Given the description of an element on the screen output the (x, y) to click on. 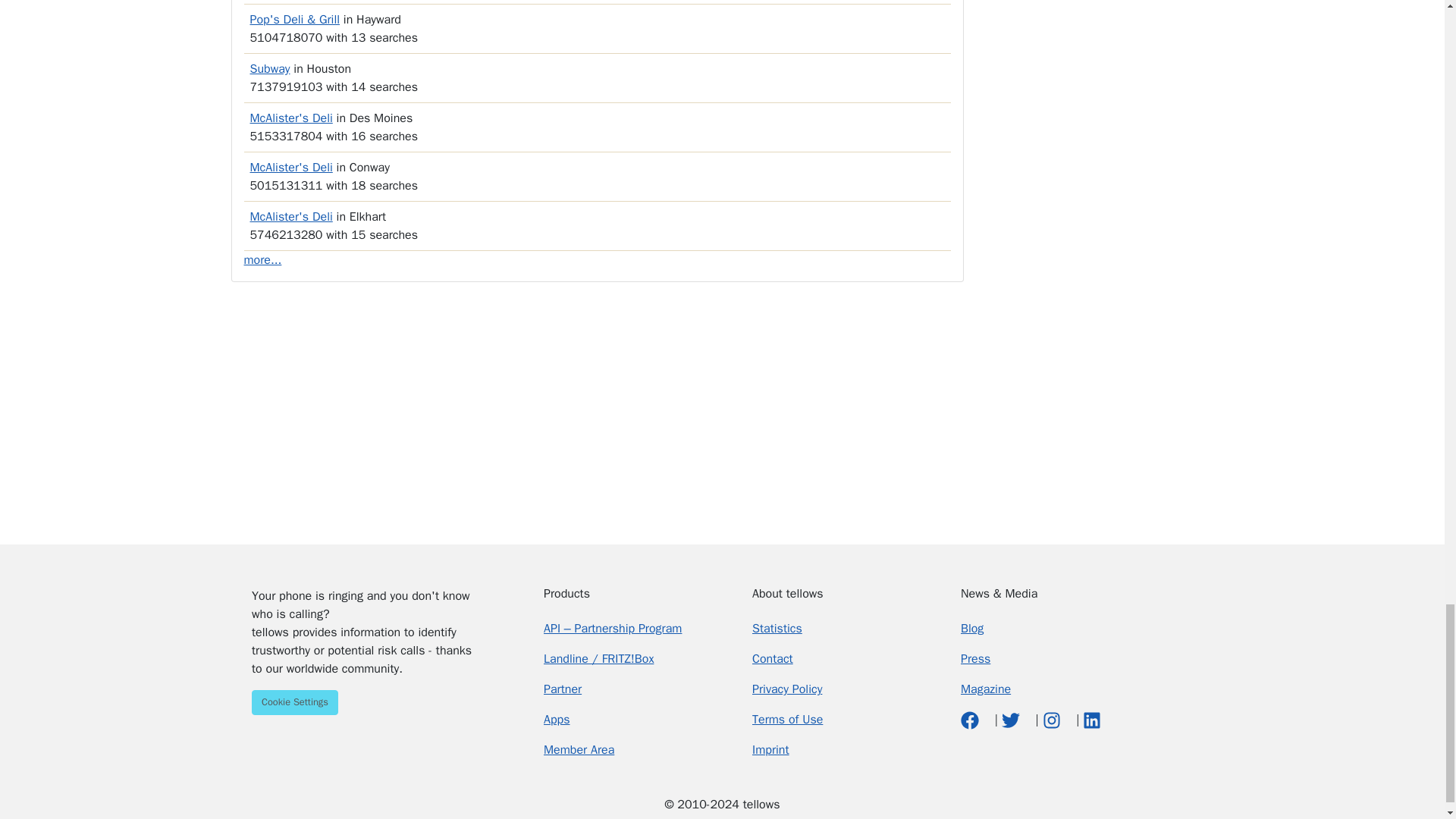
Facebook (971, 719)
Instagram (1053, 719)
twitter (1012, 719)
Presse (975, 658)
Blog (972, 628)
Magazin (985, 688)
LinkedIn (1091, 719)
